Given the description of an element on the screen output the (x, y) to click on. 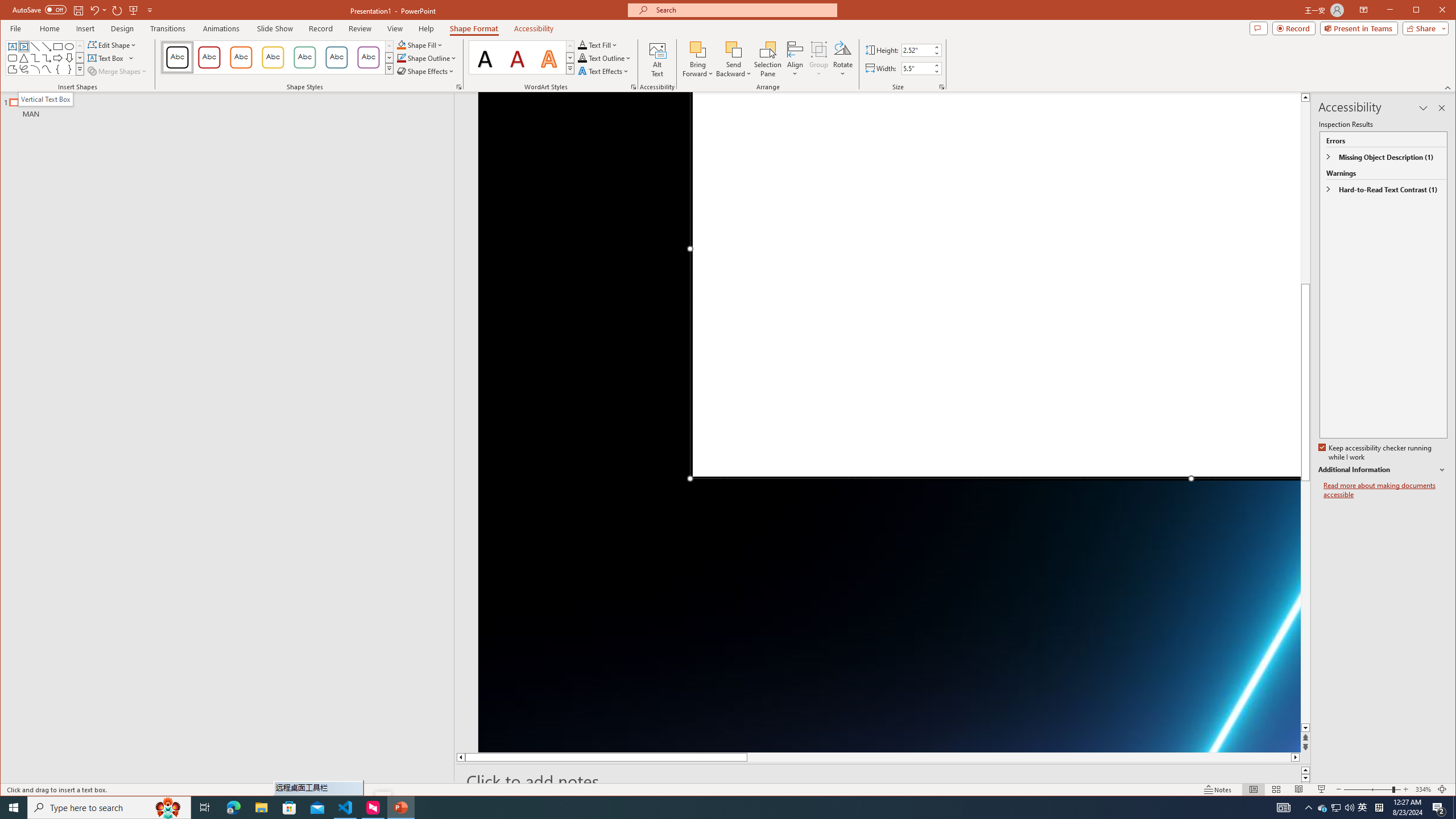
Text Fill (598, 44)
Fill: Black, Text color 1; Shadow (486, 57)
